Given the description of an element on the screen output the (x, y) to click on. 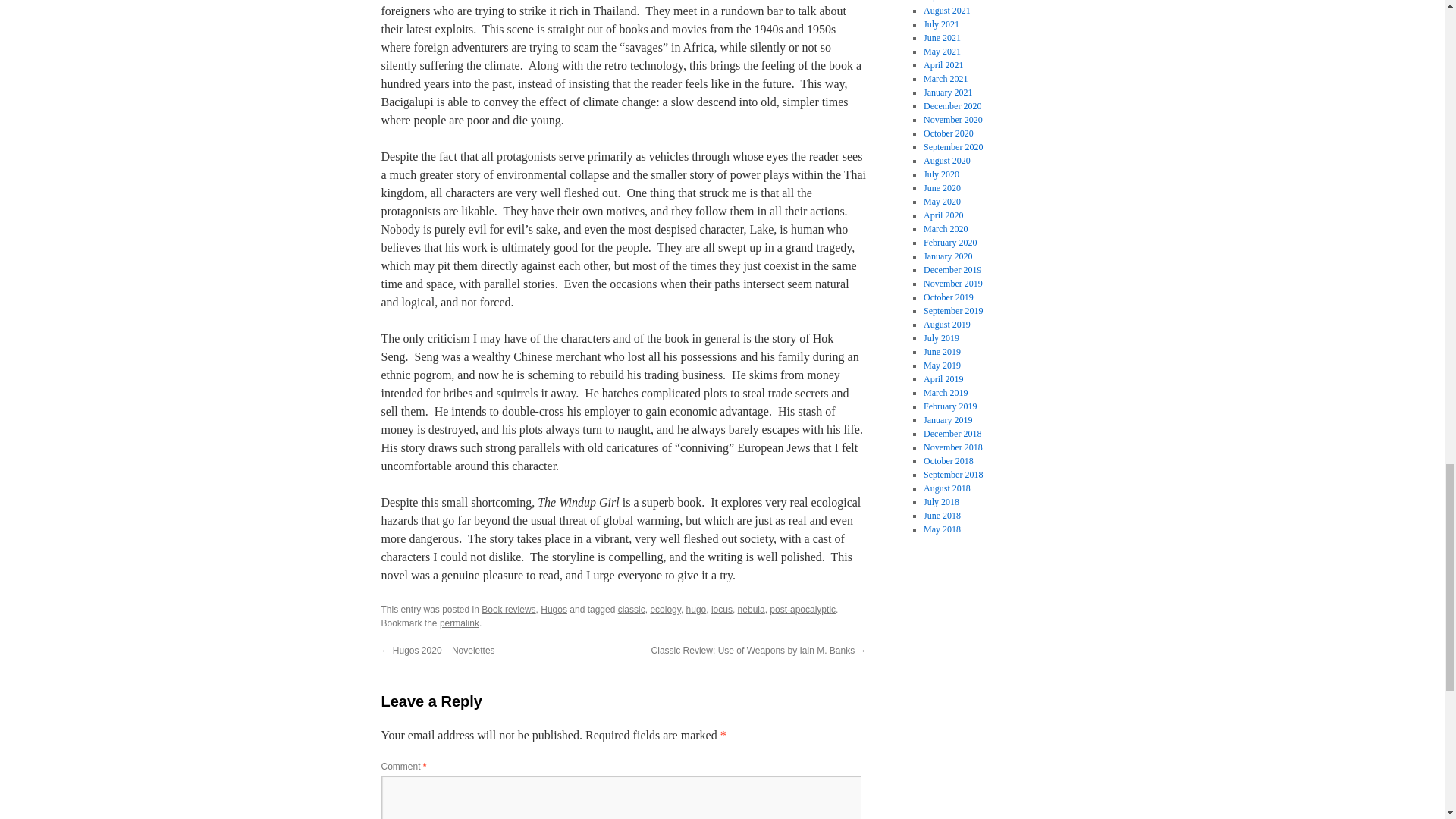
hugo (695, 609)
Hugos (553, 609)
Book reviews (508, 609)
post-apocalyptic (802, 609)
classic (631, 609)
locus (721, 609)
nebula (751, 609)
permalink (459, 623)
ecology (664, 609)
